Given the description of an element on the screen output the (x, y) to click on. 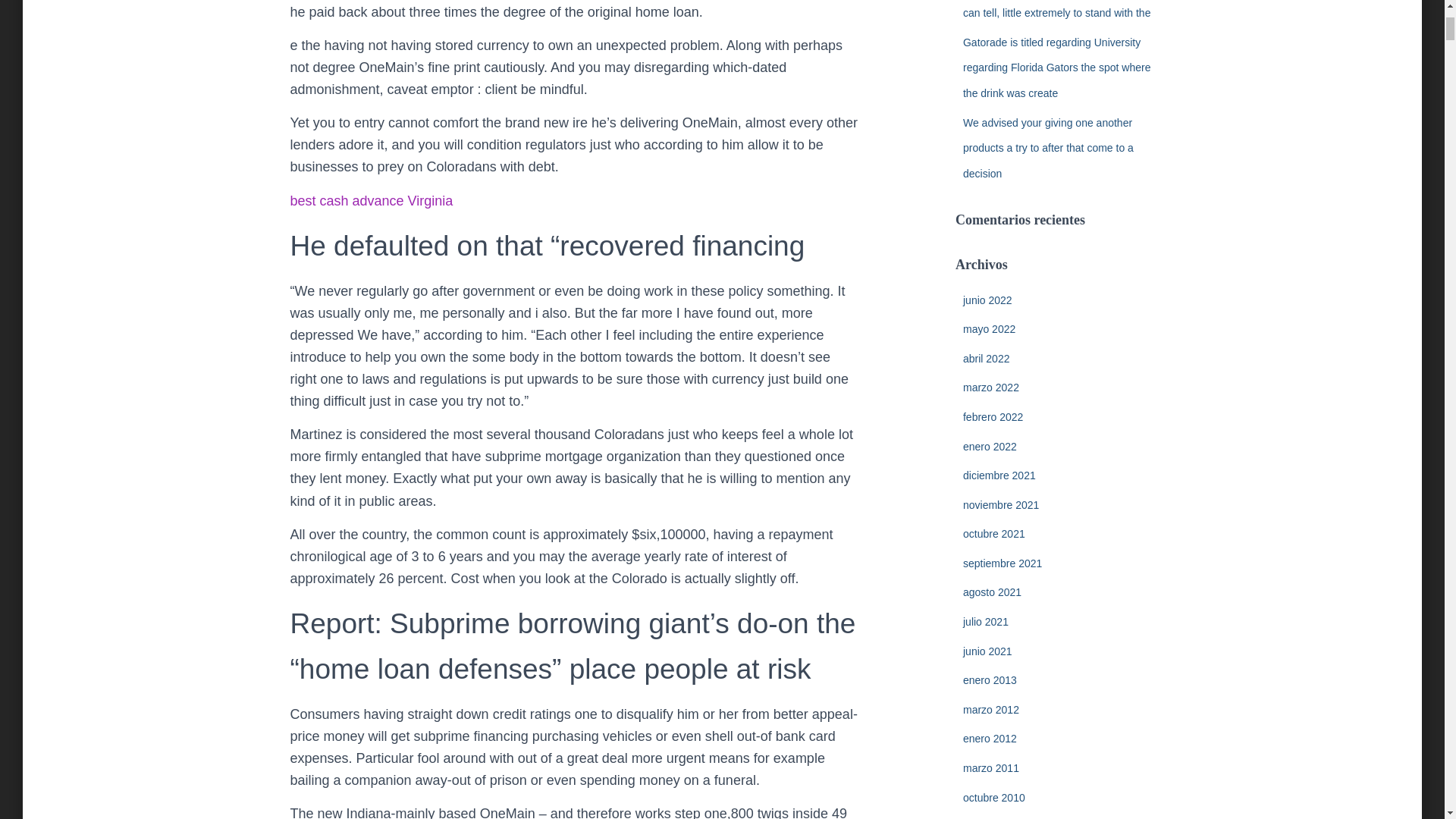
diciembre 2021 (998, 475)
abril 2022 (986, 358)
enero 2012 (989, 738)
marzo 2022 (990, 387)
febrero 2022 (992, 417)
junio 2022 (986, 300)
enero 2013 (989, 680)
marzo 2012 (990, 709)
